Given the description of an element on the screen output the (x, y) to click on. 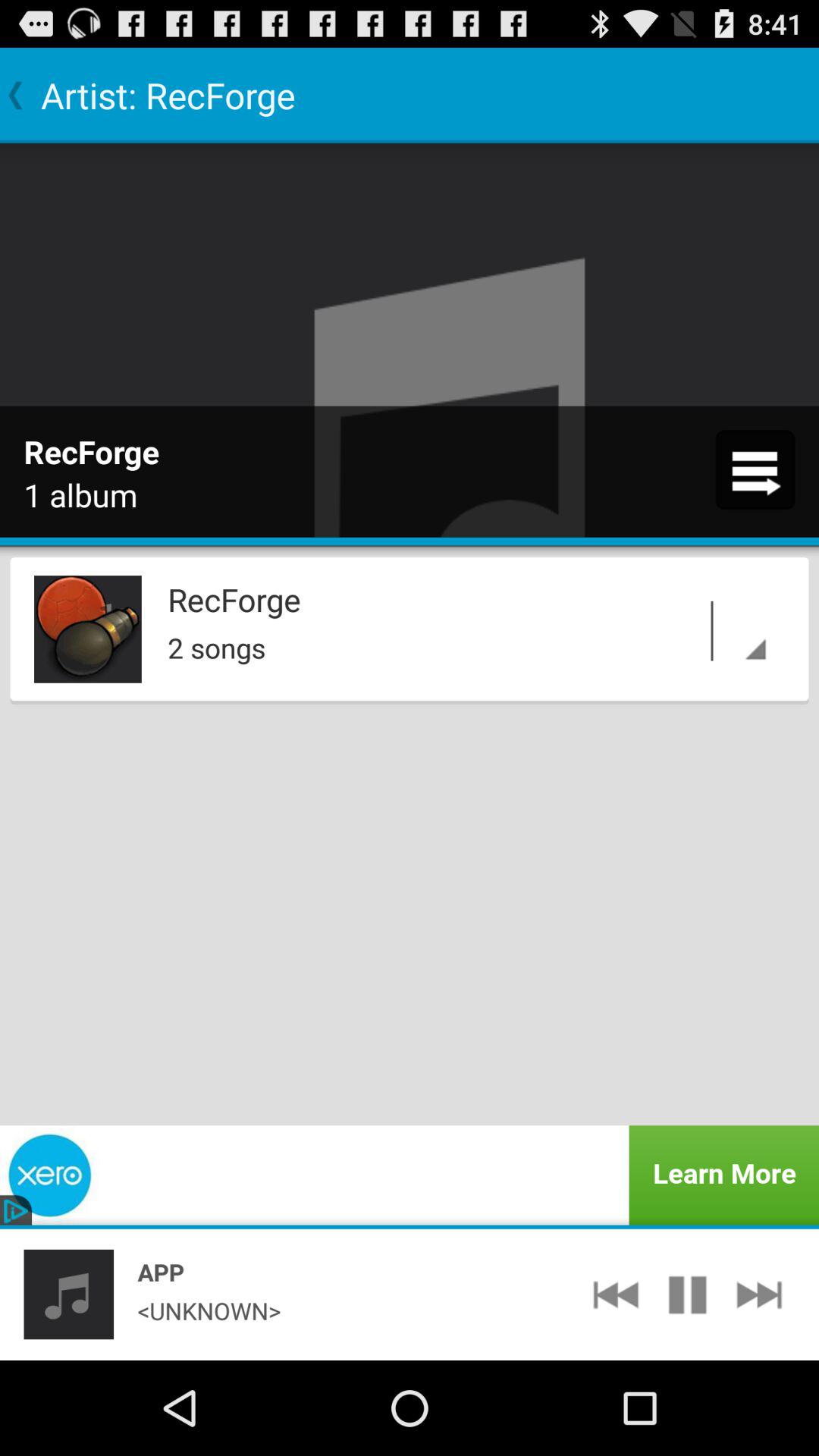
open the app below recforge app (722, 630)
